Given the description of an element on the screen output the (x, y) to click on. 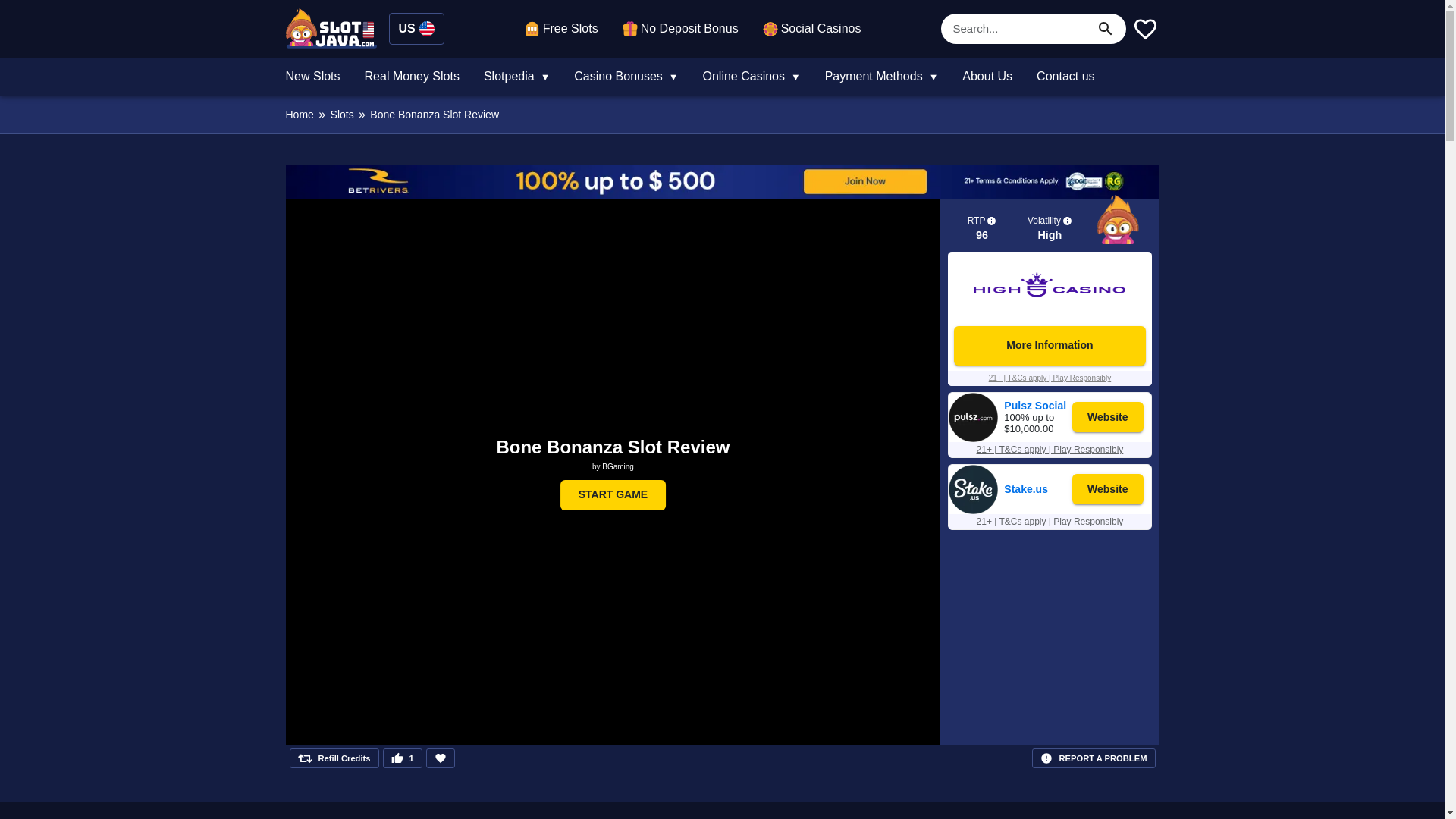
About Us (987, 76)
No Deposit Bonus (680, 28)
SlotJava.com (330, 28)
Real Money Slots (411, 76)
Social Casinos (811, 28)
Stake.us logo (973, 509)
New Slots (312, 76)
Free Slots (561, 28)
Pulsz Social logo (973, 437)
US (416, 29)
